Given the description of an element on the screen output the (x, y) to click on. 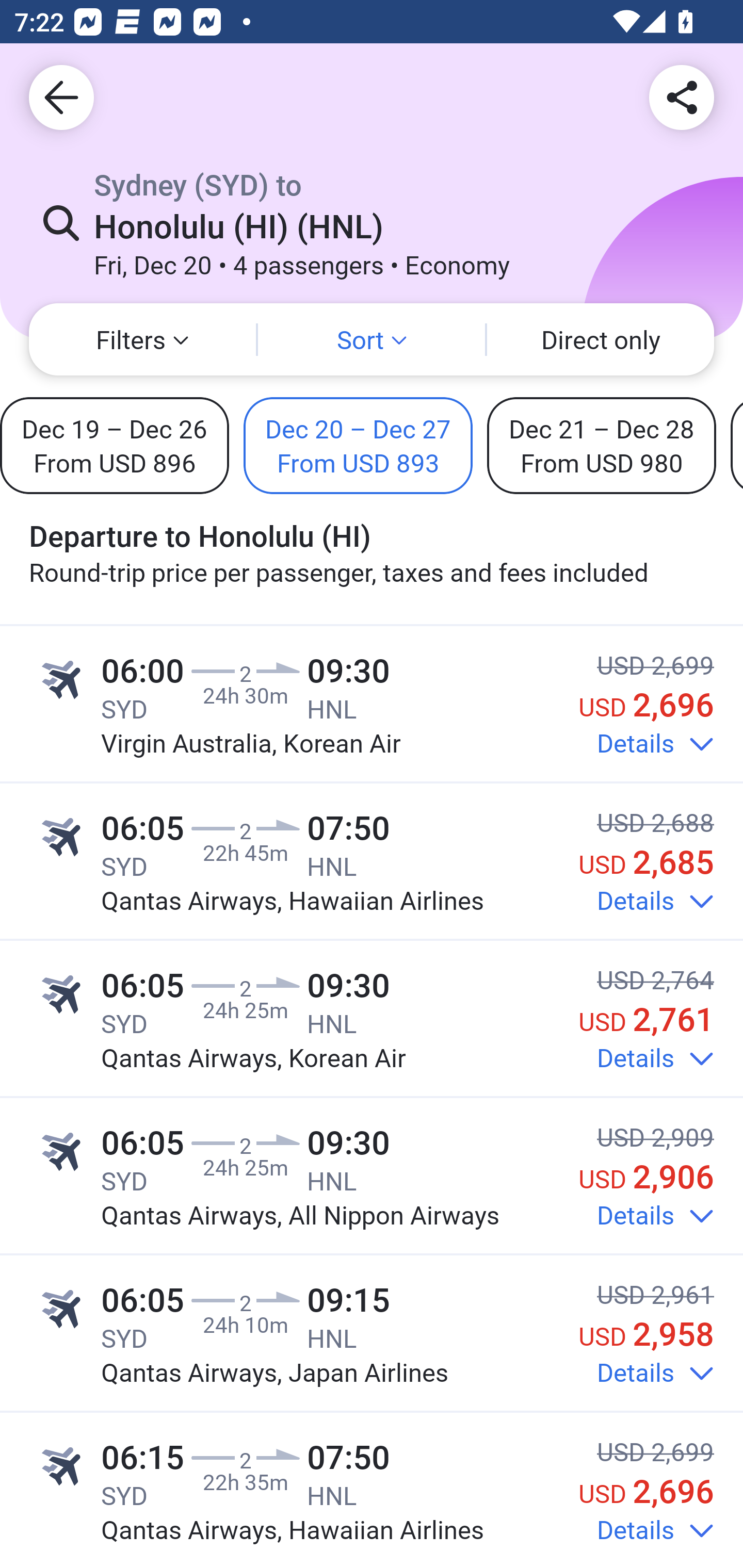
Filters (141, 339)
Sort (371, 339)
Direct only (600, 339)
Dec 19 – Dec 26 From USD 896 (114, 444)
Dec 20 – Dec 27 From USD 893 (357, 444)
Dec 21 – Dec 28 From USD 980 (601, 444)
